Given the description of an element on the screen output the (x, y) to click on. 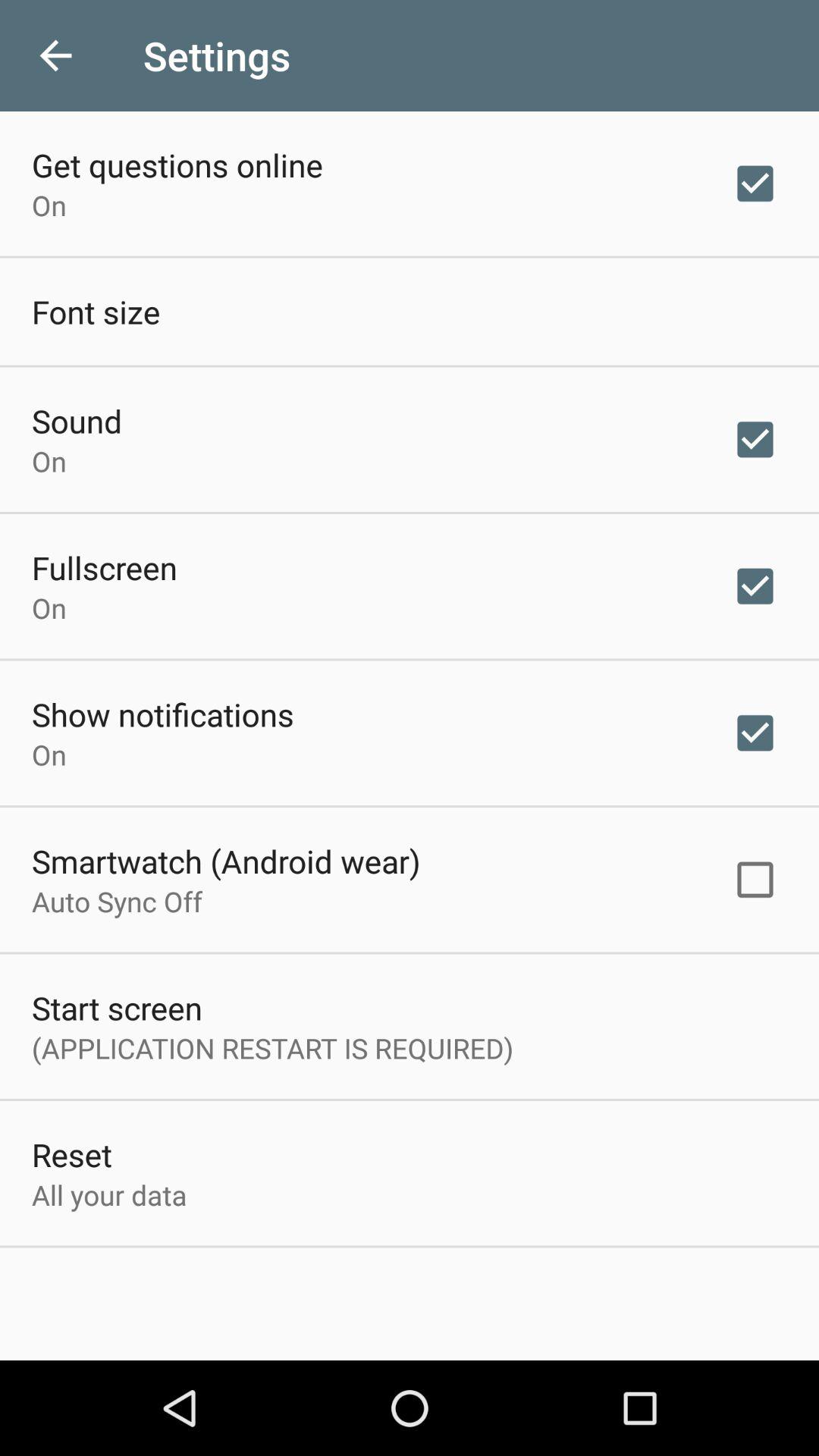
turn off the reset (71, 1154)
